Given the description of an element on the screen output the (x, y) to click on. 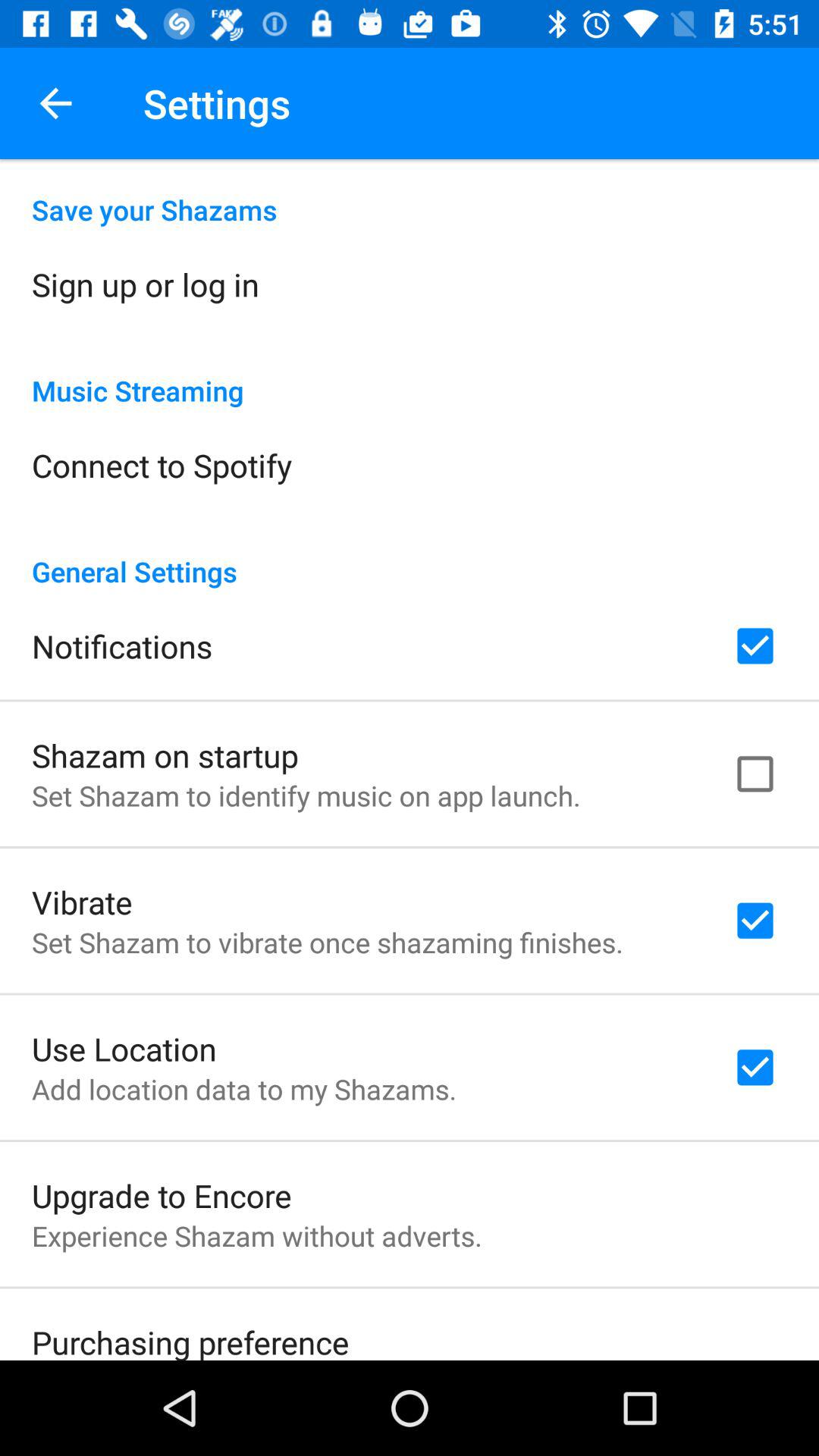
click item next to settings icon (55, 103)
